Given the description of an element on the screen output the (x, y) to click on. 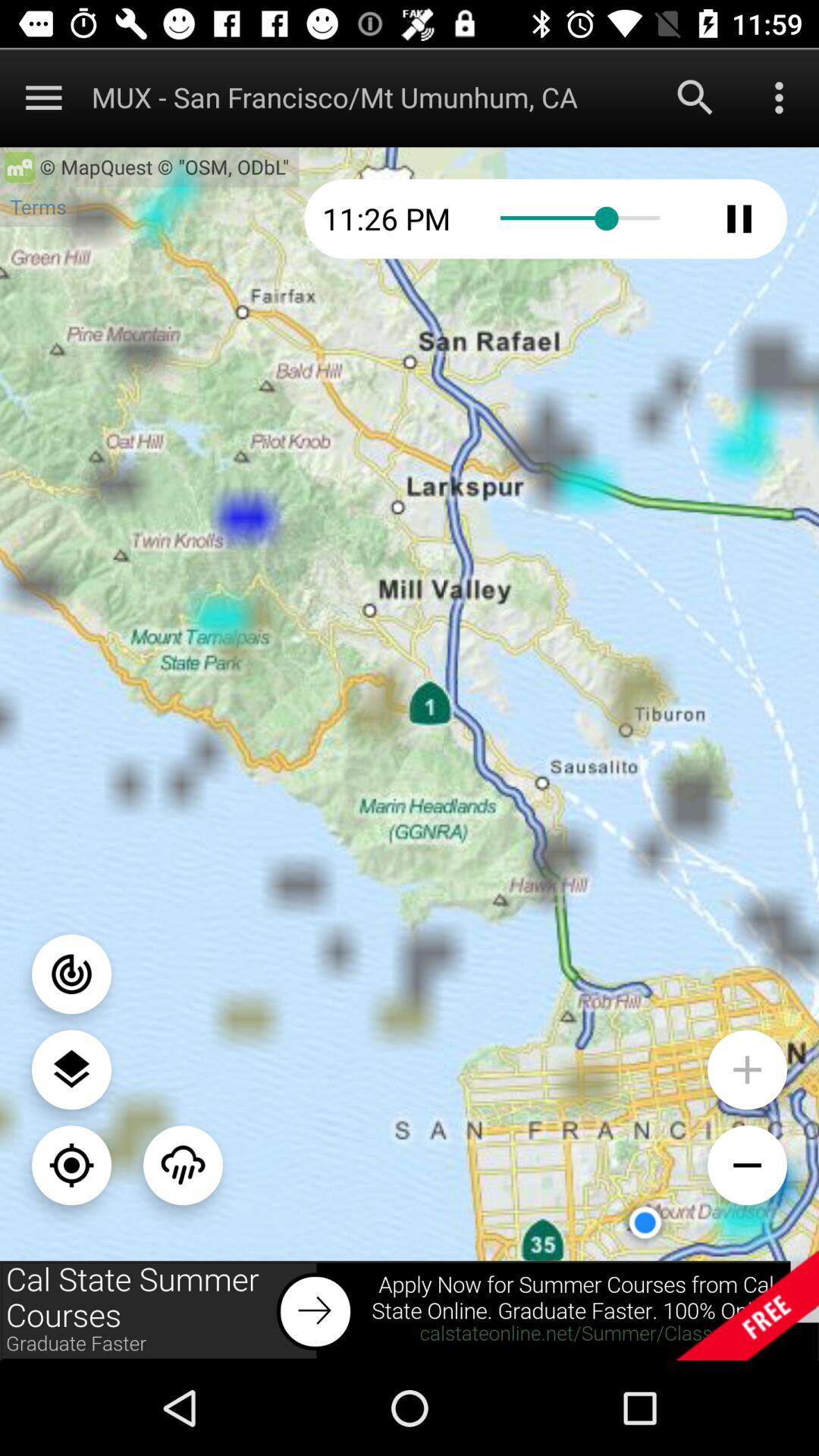
cloud (182, 1165)
